Given the description of an element on the screen output the (x, y) to click on. 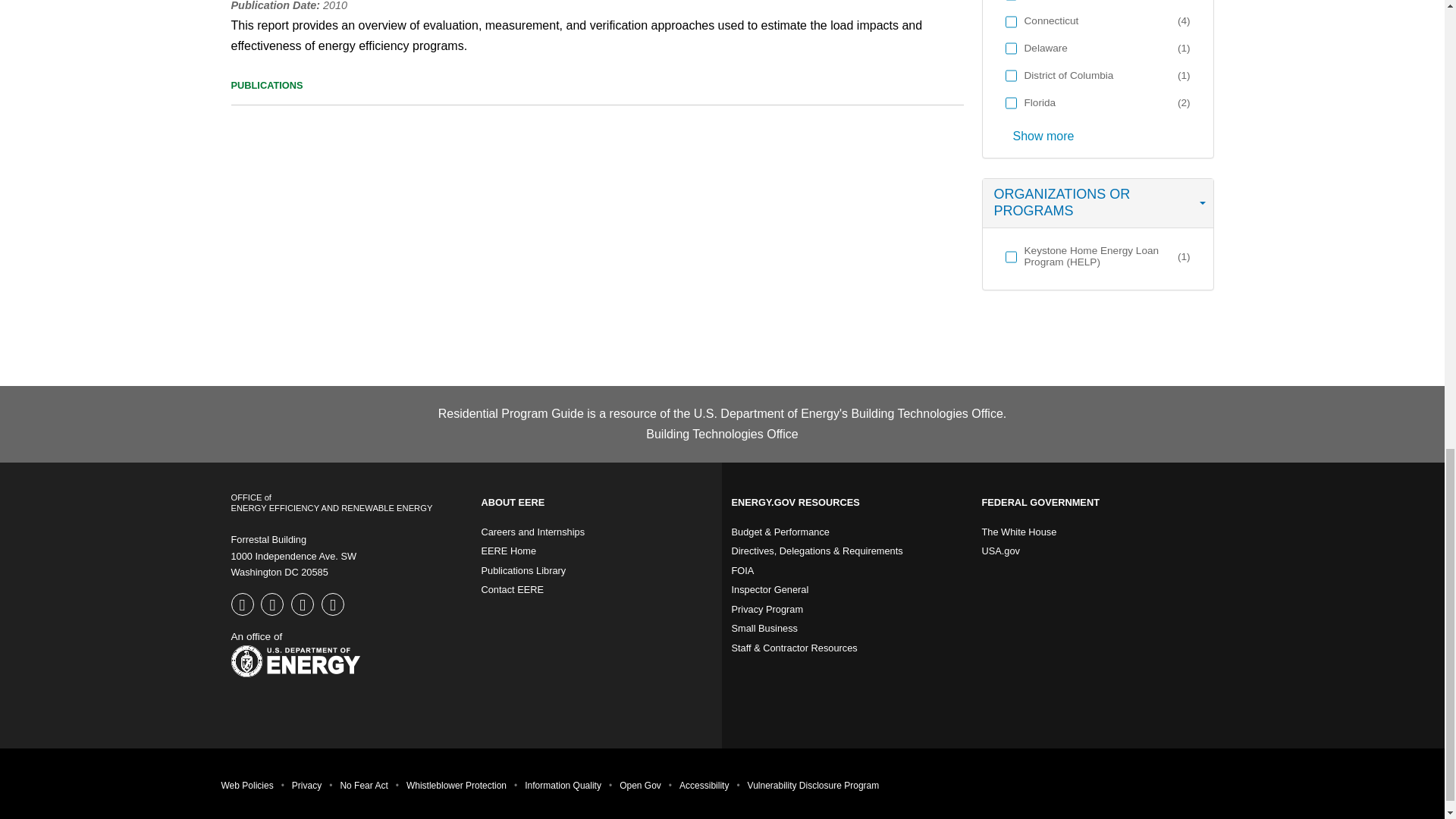
Link to Linkedin (334, 604)
Link to Twitter (273, 604)
Link to Facebook (243, 604)
Link to Youtube (304, 604)
